Given the description of an element on the screen output the (x, y) to click on. 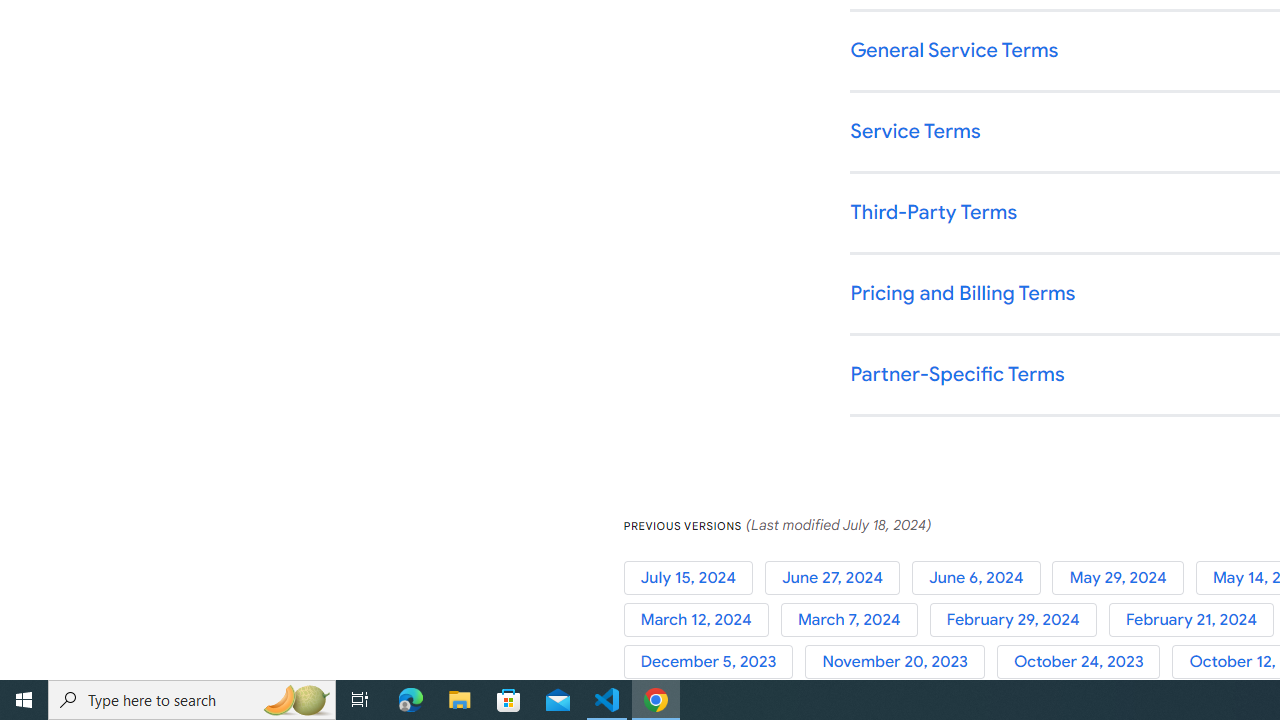
March 7, 2024 (854, 620)
October 24, 2023 (1083, 661)
December 5, 2023 (714, 661)
February 29, 2024 (1018, 620)
November 20, 2023 (901, 661)
June 6, 2024 (982, 577)
March 12, 2024 (701, 620)
June 27, 2024 (837, 577)
May 29, 2024 (1123, 577)
July 15, 2024 (694, 577)
